Given the description of an element on the screen output the (x, y) to click on. 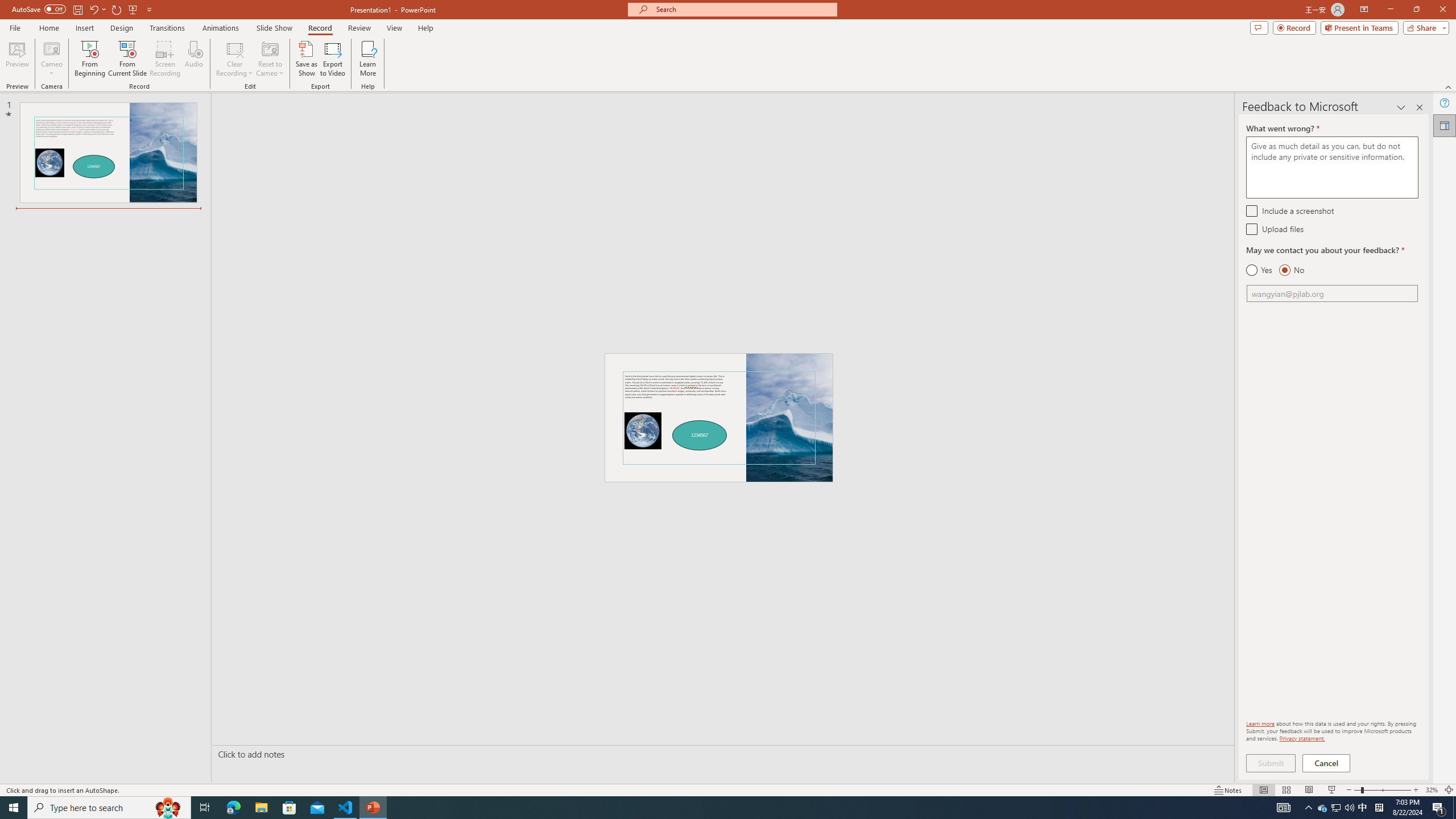
Design (122, 28)
Cameo (51, 48)
Learn More (368, 58)
Privacy statement. (1301, 738)
Undo (96, 9)
Redo (117, 9)
Zoom to Fit  (1449, 790)
From Current Slide... (127, 58)
Microsoft search (742, 9)
Record (320, 28)
System (6, 6)
Home (48, 28)
Slide Show (1331, 790)
Export to Video (332, 58)
Animations (220, 28)
